Given the description of an element on the screen output the (x, y) to click on. 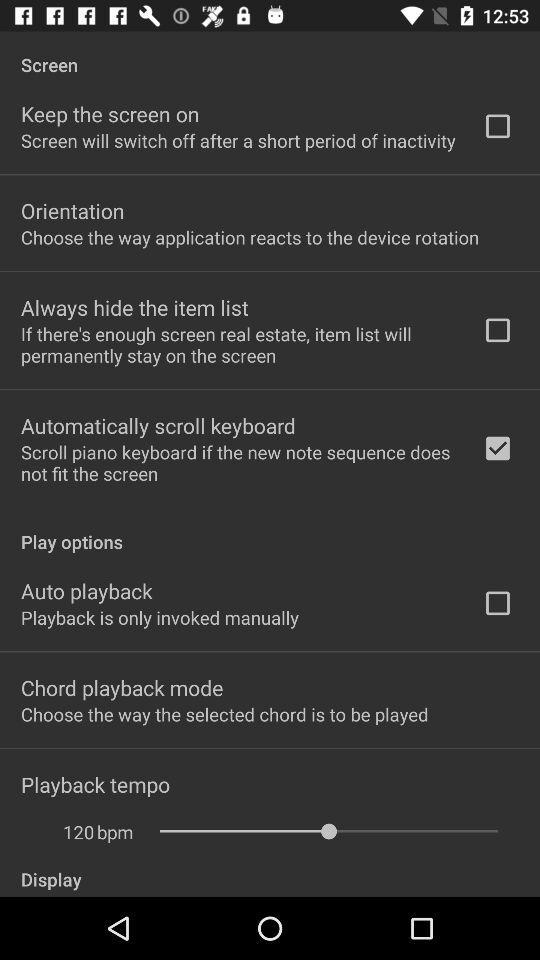
turn off the item below the always hide the app (238, 344)
